Given the description of an element on the screen output the (x, y) to click on. 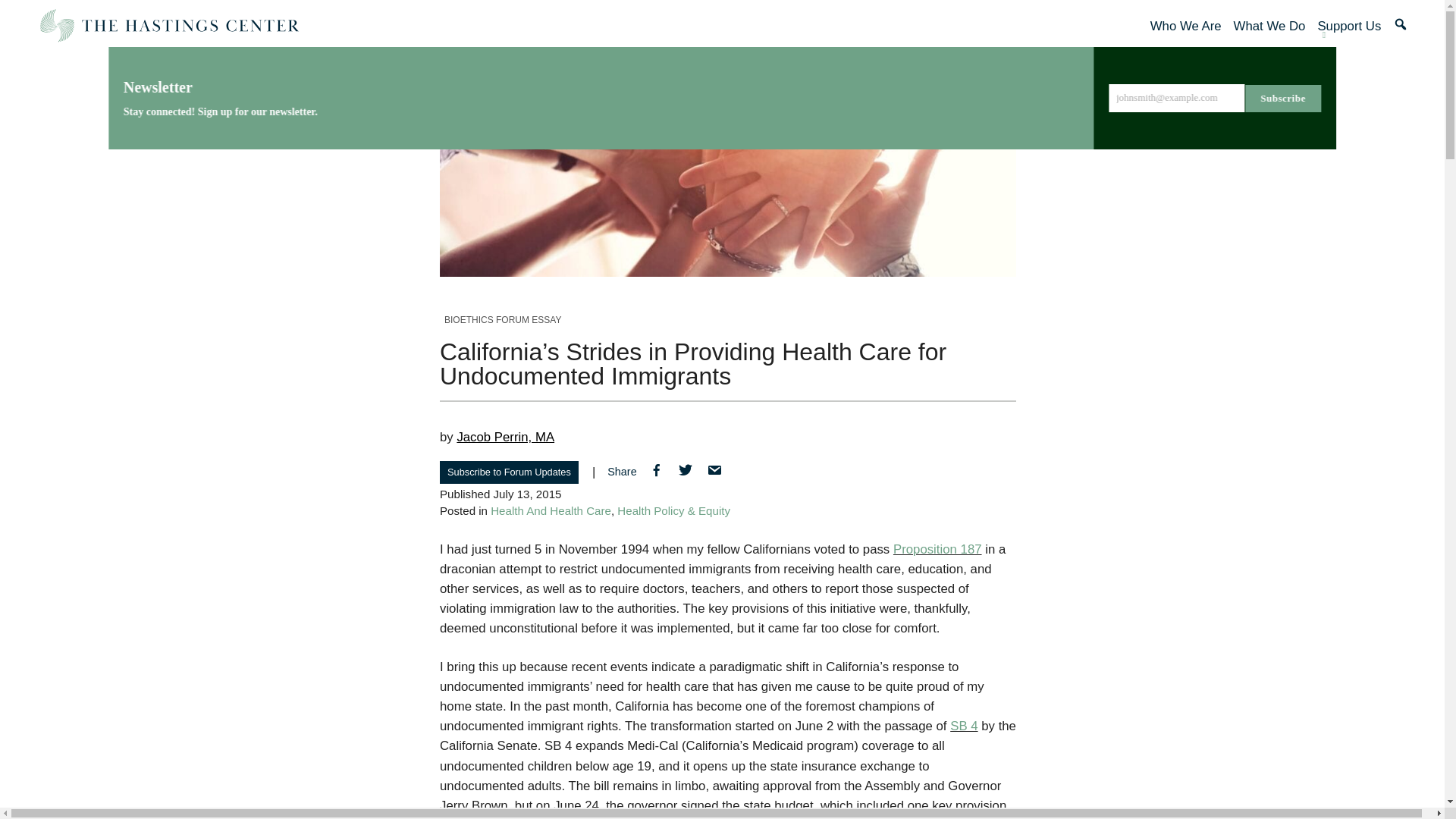
Jacob Perrin, MA (505, 436)
The Hastings Center (168, 26)
What We Do (1269, 26)
Who We Are (1185, 26)
Subscribe to Forum Updates (508, 472)
Jacob Perrin, MA (505, 436)
Support Us (1348, 26)
